Given the description of an element on the screen output the (x, y) to click on. 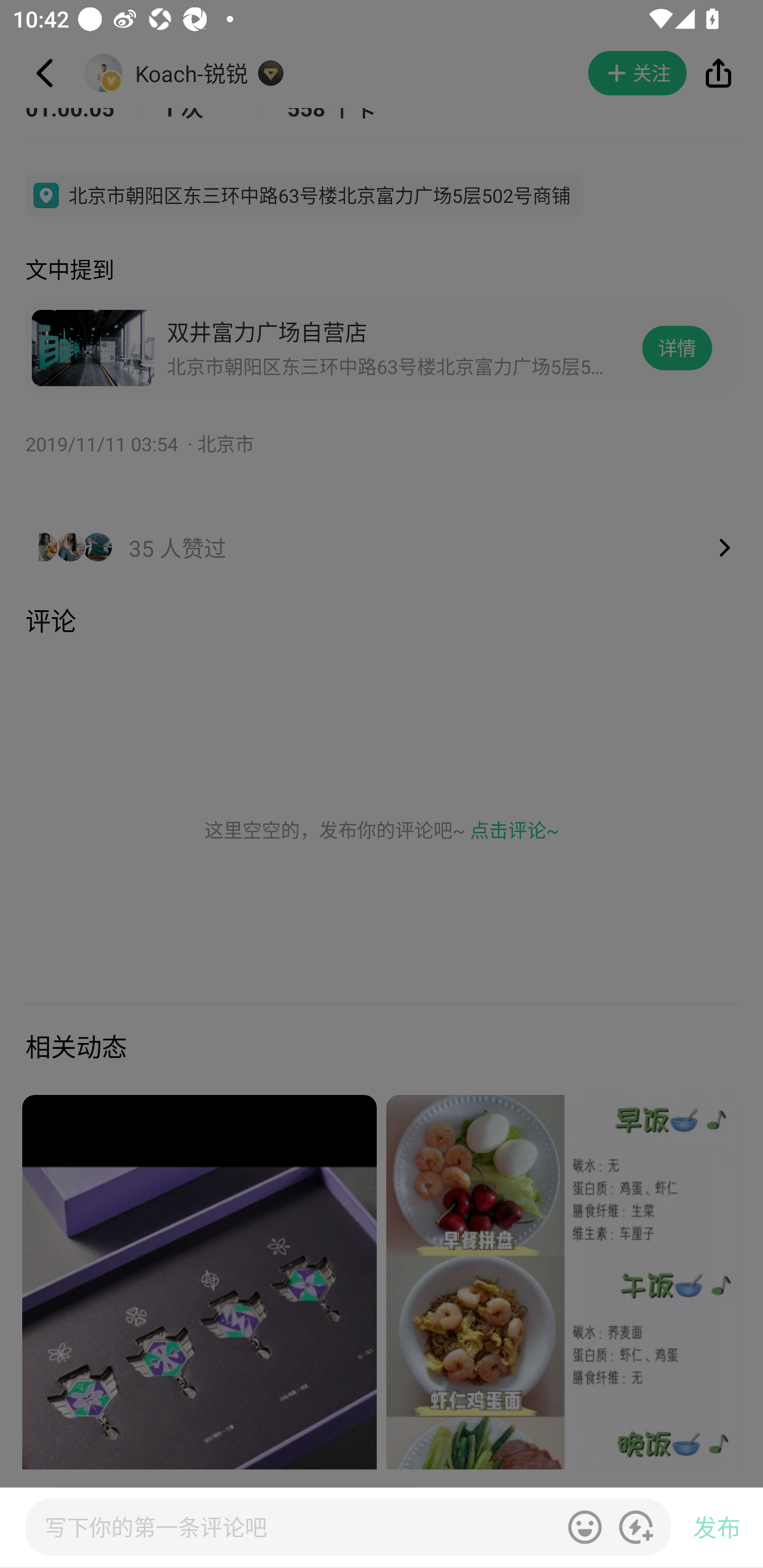
发布 (716, 1527)
